Given the description of an element on the screen output the (x, y) to click on. 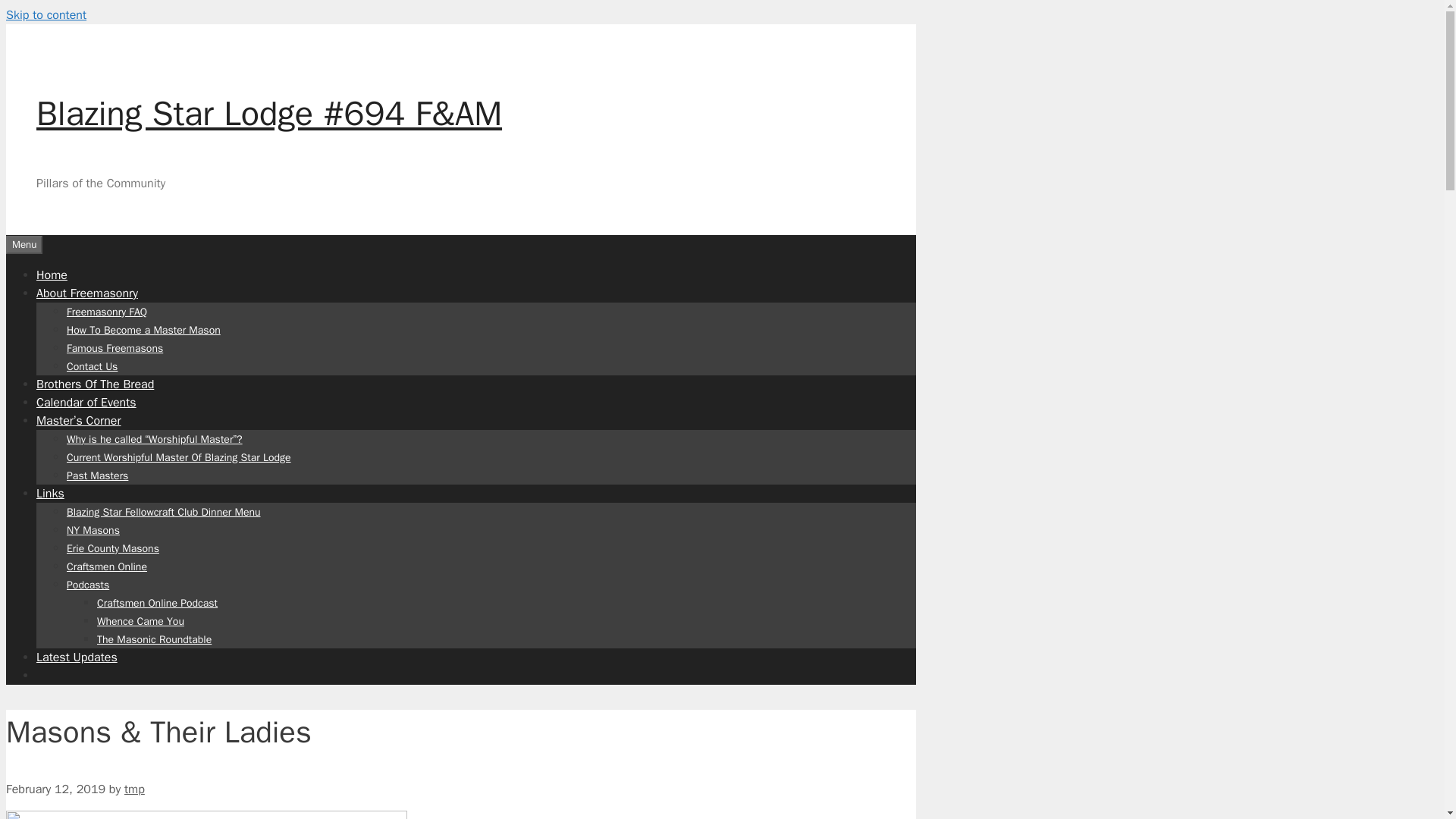
Calendar of Events (86, 401)
Famous Freemasons (114, 347)
Brothers Of The Bread (95, 383)
Skip to content (45, 14)
Latest Updates (76, 656)
The Masonic Roundtable (154, 638)
View all posts by tmp (133, 789)
Freemasonry FAQ (106, 310)
How To Become a Master Mason (143, 328)
Home (51, 273)
